Given the description of an element on the screen output the (x, y) to click on. 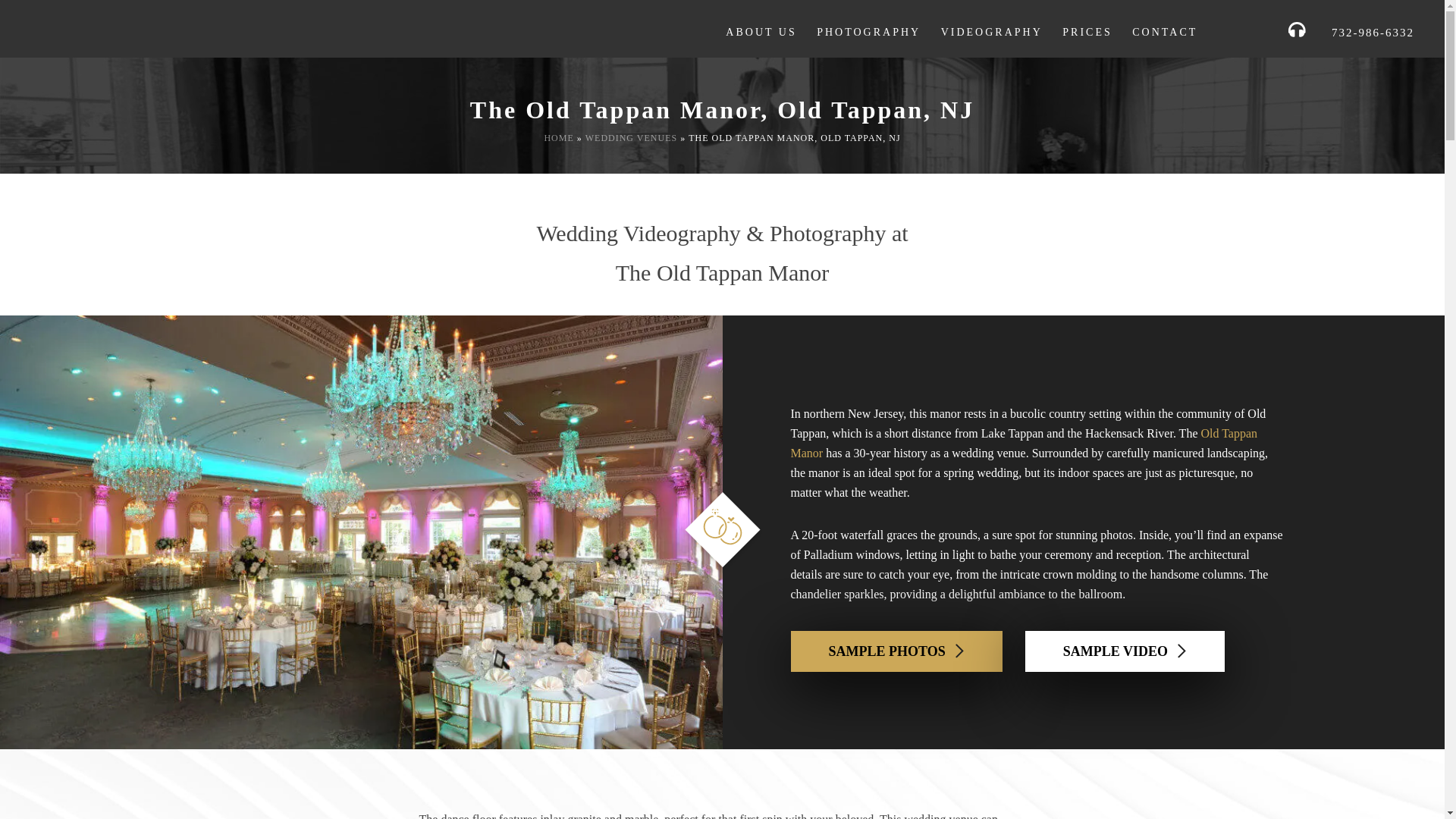
Photography (868, 32)
732-986-6332 (1364, 32)
ABOUT US (760, 32)
Wedding Videography Prices (1087, 32)
SAMPLE PHOTOS (895, 650)
CONTACT (1164, 32)
PRICES (1087, 32)
VIDEOGRAPHY (991, 32)
HOME (558, 138)
About Us (760, 32)
SAMPLE VIDEO (1124, 650)
Old Tappan Manor (1023, 442)
PHOTOGRAPHY (868, 32)
WEDDING VENUES (631, 138)
